Given the description of an element on the screen output the (x, y) to click on. 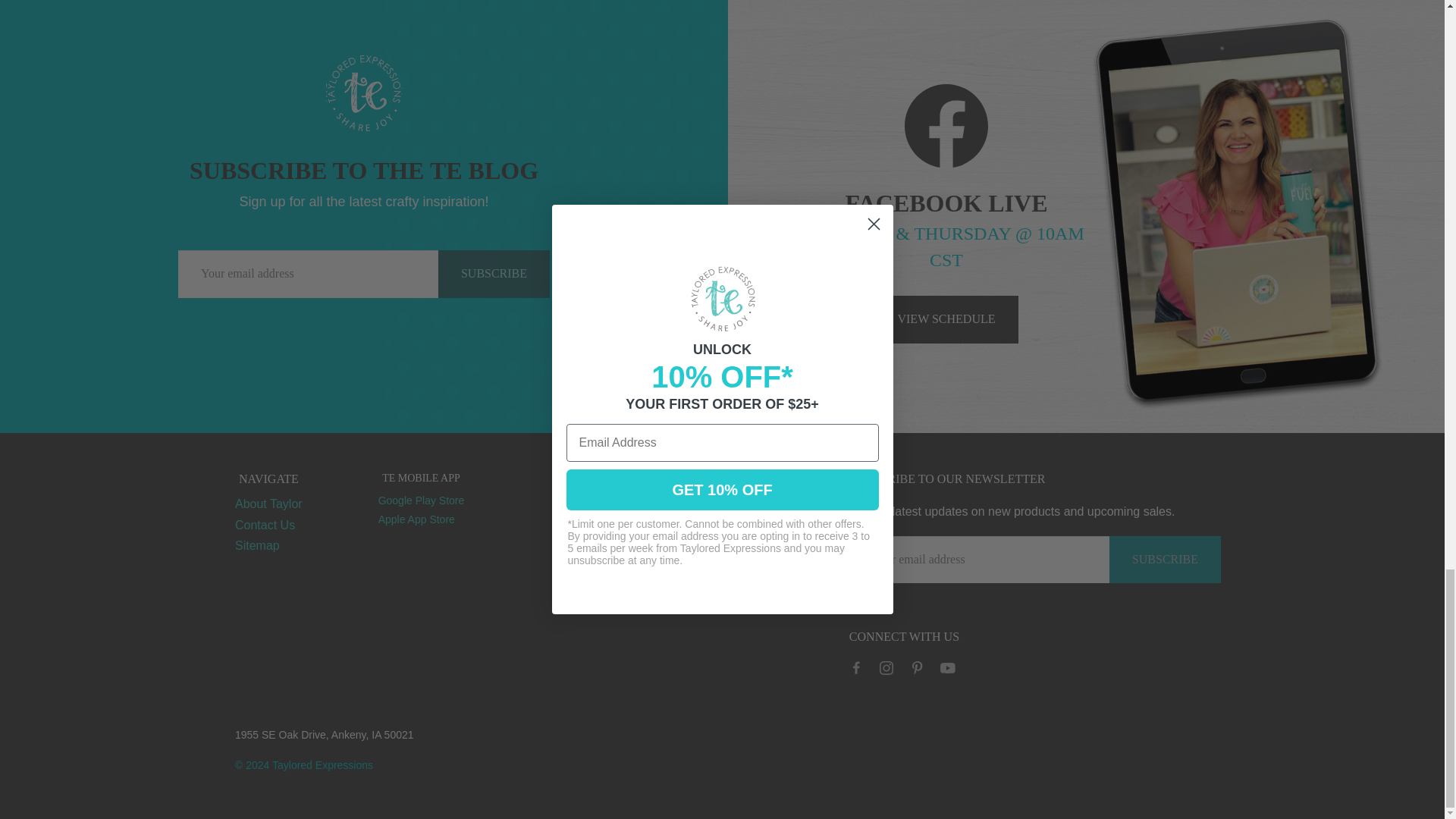
Subscribe (494, 274)
Subscribe (1165, 559)
VIEW SCHEDULE (946, 319)
Subscribe (494, 274)
